Given the description of an element on the screen output the (x, y) to click on. 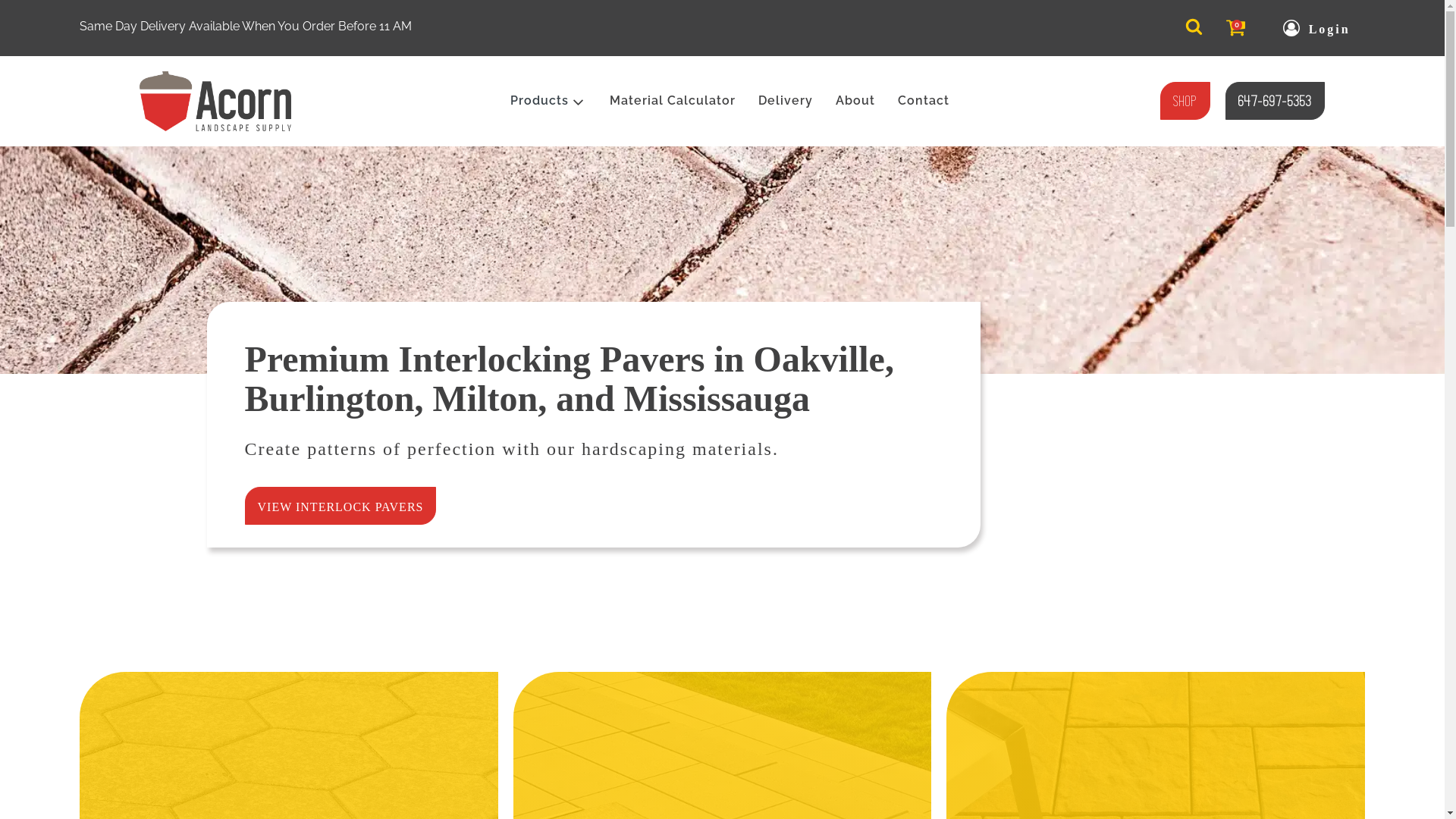
Search Element type: text (25, 9)
Techo-Bloc Element type: text (721, 763)
Unilock Element type: text (288, 763)
About Element type: text (855, 100)
Flagstone Element type: text (1155, 753)
SHOP Element type: text (1185, 100)
Delivery Element type: text (785, 100)
Login Element type: text (1316, 29)
Products Element type: text (554, 100)
Contact Element type: text (923, 100)
VIEW INTERLOCK PAVERS Element type: text (340, 505)
647-697-5353 Element type: text (1274, 100)
Material Calculator Element type: text (672, 100)
